Given the description of an element on the screen output the (x, y) to click on. 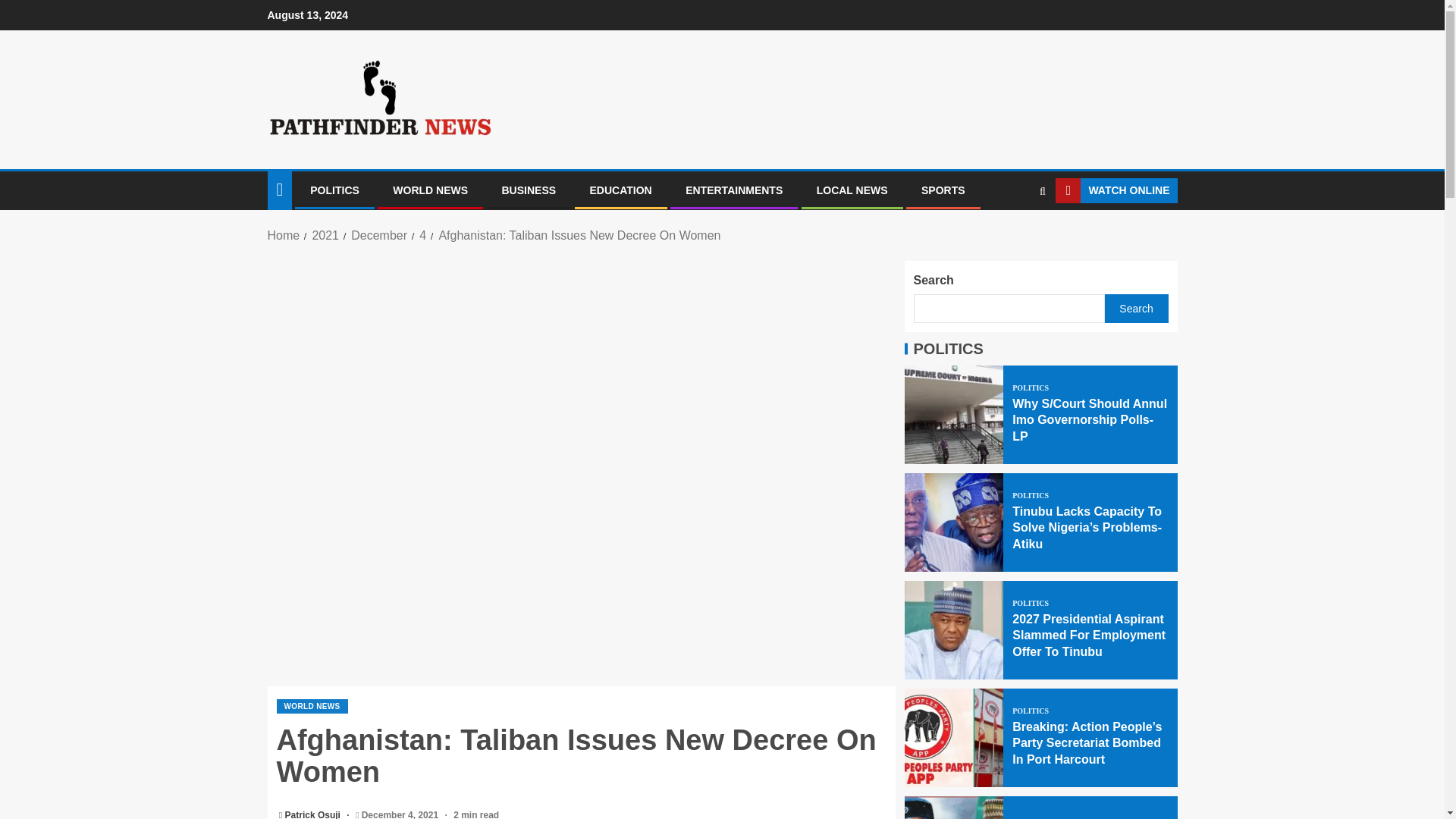
2021 (325, 235)
Patrick Osuji (314, 814)
December (378, 235)
WORLD NEWS (311, 706)
Search (1013, 235)
ENTERTAINMENTS (734, 190)
SPORTS (943, 190)
Home (282, 235)
BUSINESS (529, 190)
LOCAL NEWS (852, 190)
